Given the description of an element on the screen output the (x, y) to click on. 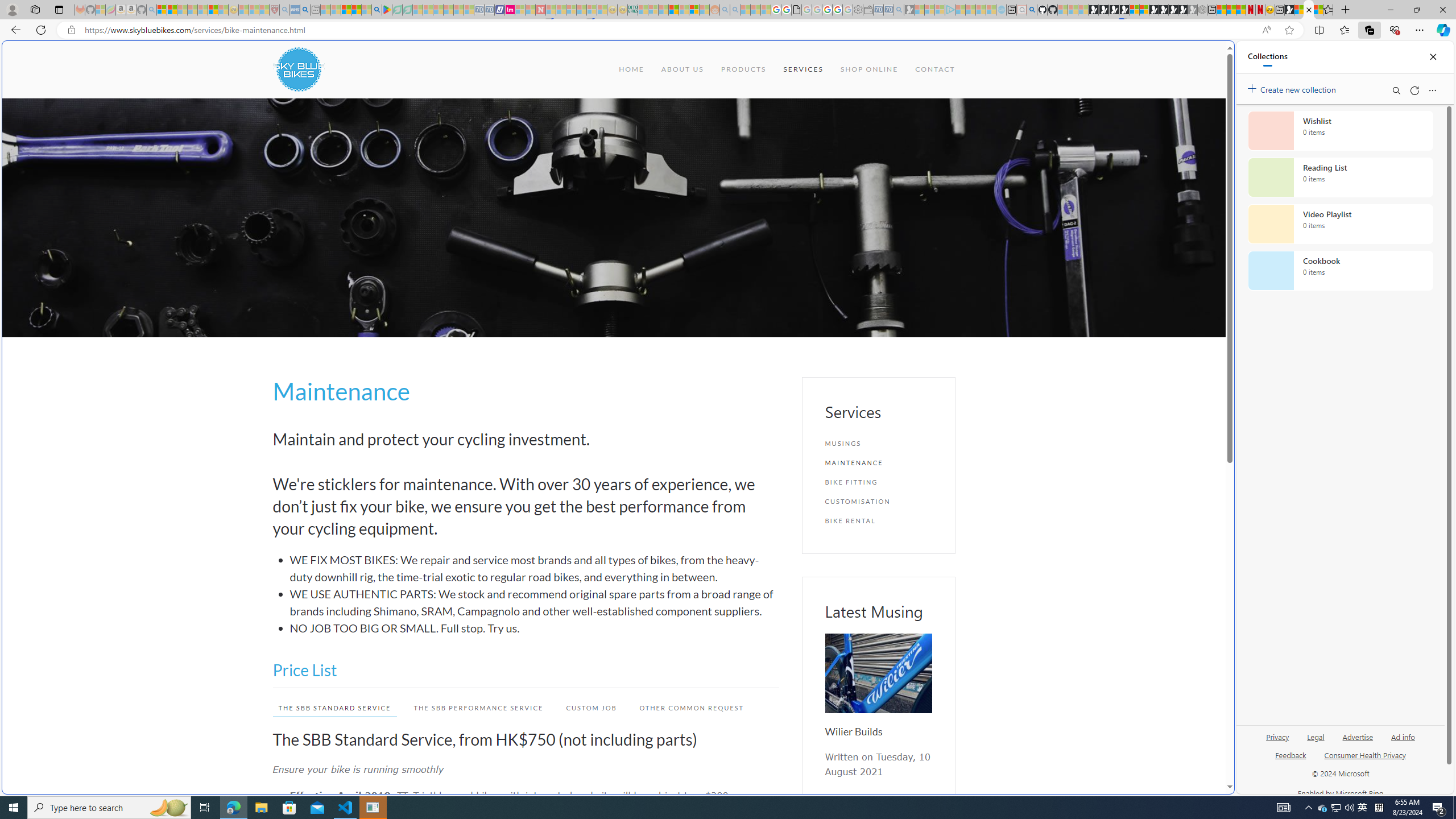
THE SBB PERFORMANCE SERVICE (472, 707)
OTHER COMMON REQUEST (685, 707)
Expert Portfolios (673, 9)
Sign in to your account (1134, 9)
CONTACT (935, 68)
BIKE RENTAL (878, 520)
